Given the description of an element on the screen output the (x, y) to click on. 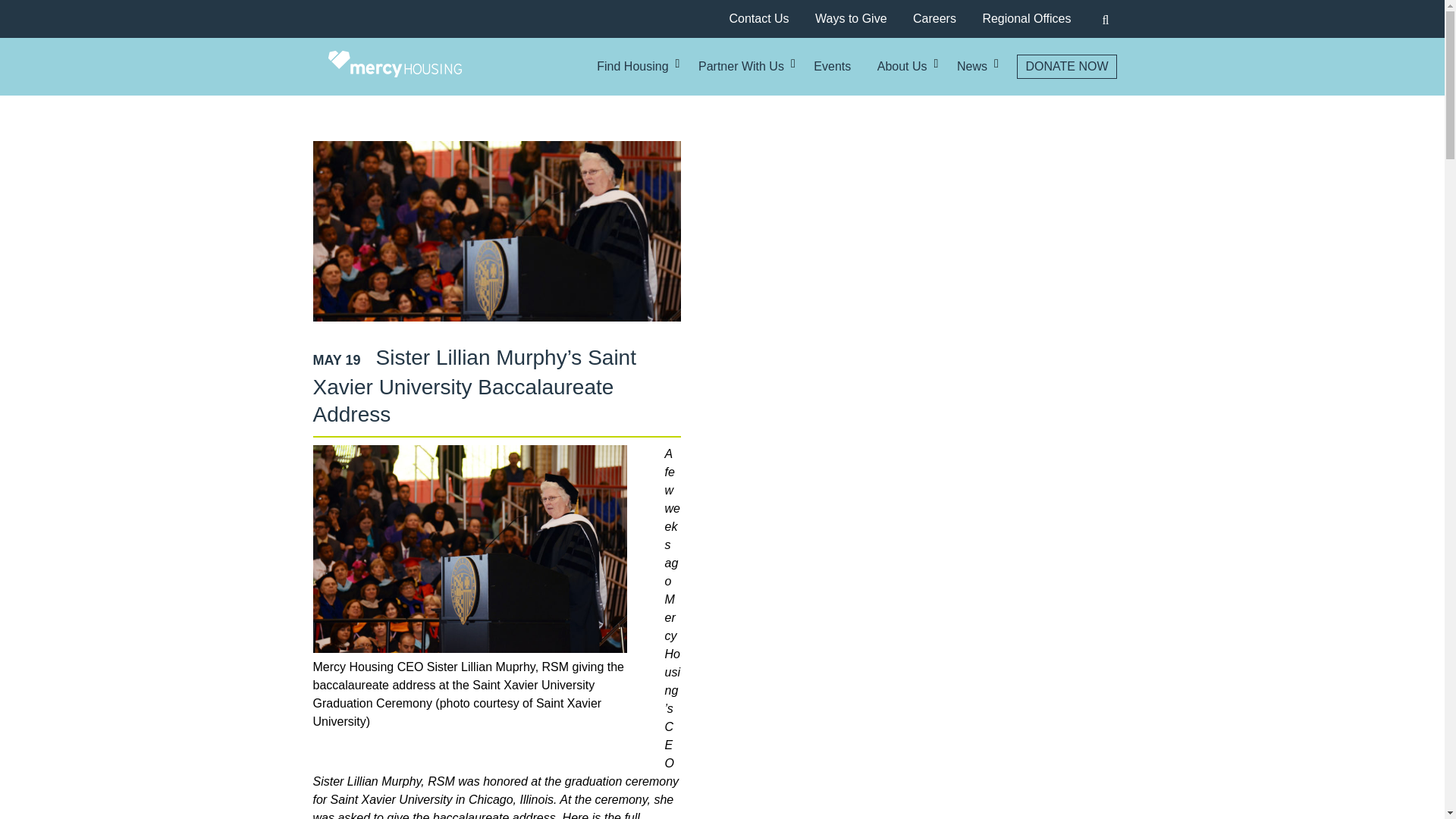
Careers (934, 18)
Partner With Us (741, 66)
Ways to Give (850, 18)
Contact Us (759, 18)
Regional Offices (1025, 18)
Events (831, 66)
About Us (902, 66)
Find Housing (632, 66)
